Given the description of an element on the screen output the (x, y) to click on. 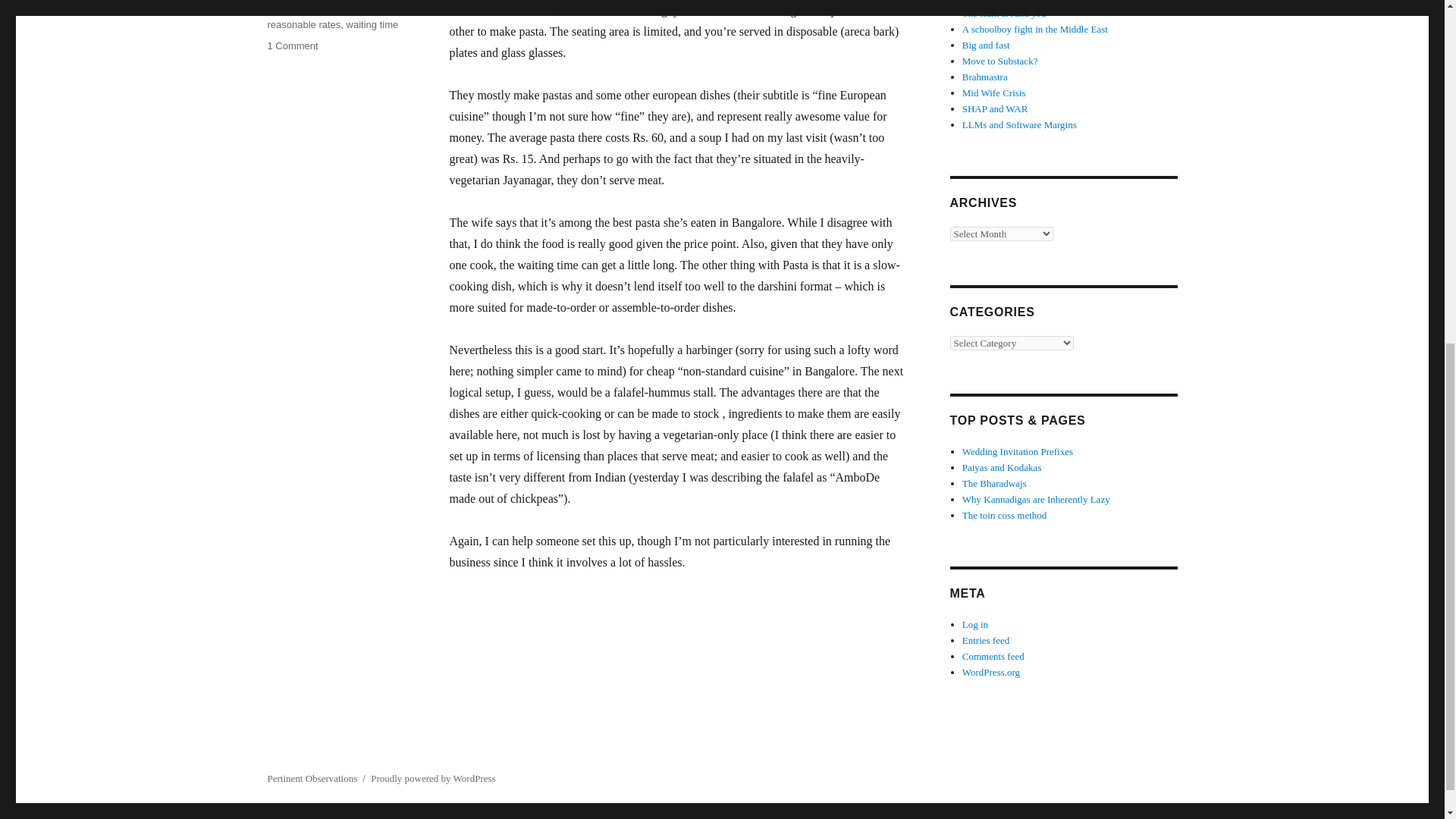
subtitle (282, 8)
very reasonable rates (316, 16)
two guys (323, 8)
waiting time (372, 24)
